Given the description of an element on the screen output the (x, y) to click on. 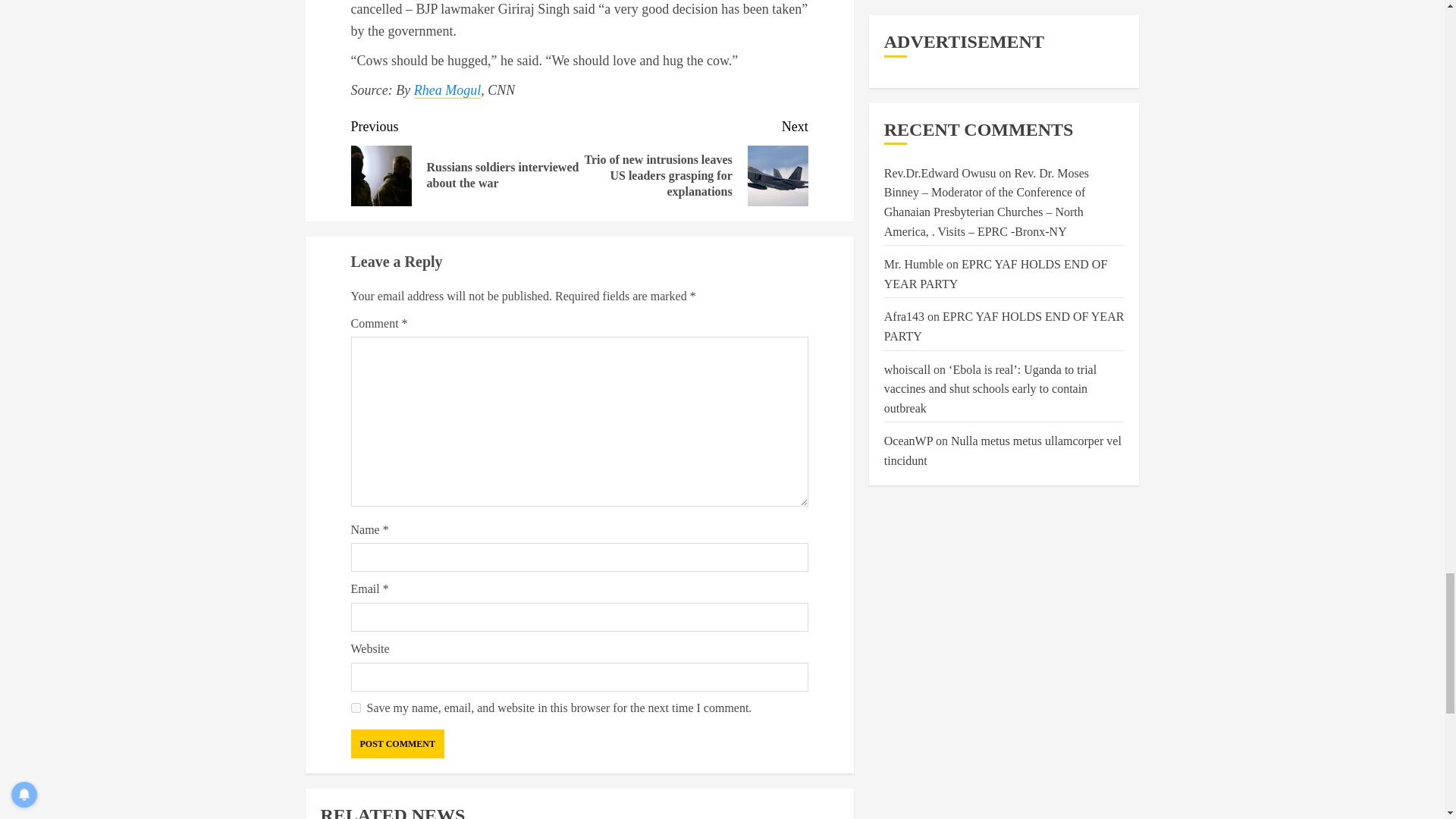
Post Comment (397, 743)
yes (354, 707)
